Given the description of an element on the screen output the (x, y) to click on. 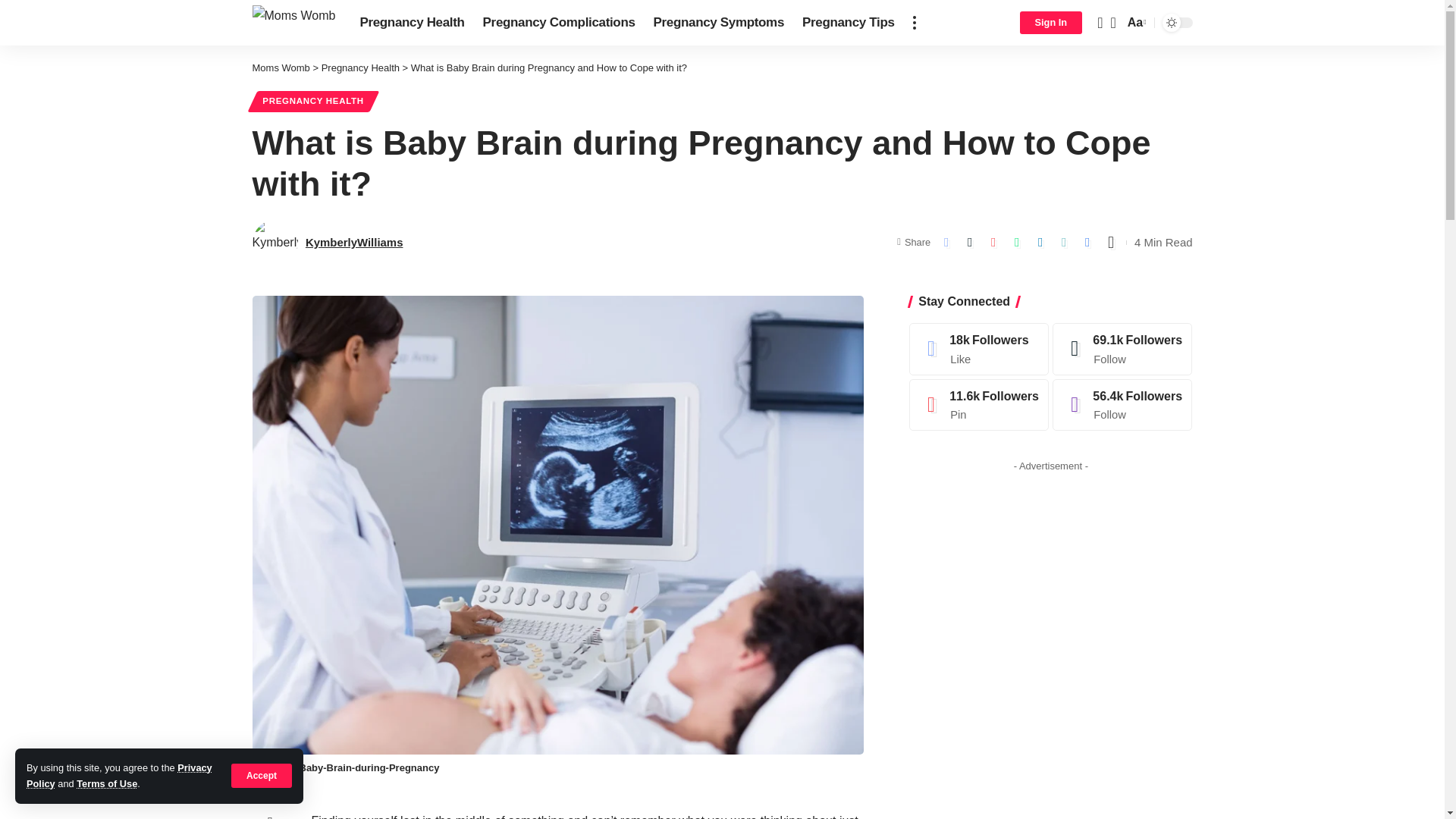
Go to Moms Womb. (279, 67)
Moms Womb (279, 67)
Pregnancy Health (411, 22)
Pregnancy Symptoms (719, 22)
Sign In (1050, 22)
Moms Womb (292, 21)
Pregnancy Tips (848, 22)
PREGNANCY HEALTH (312, 101)
Pregnancy Health (359, 67)
Go to the Pregnancy Health Category archives. (359, 67)
